Given the description of an element on the screen output the (x, y) to click on. 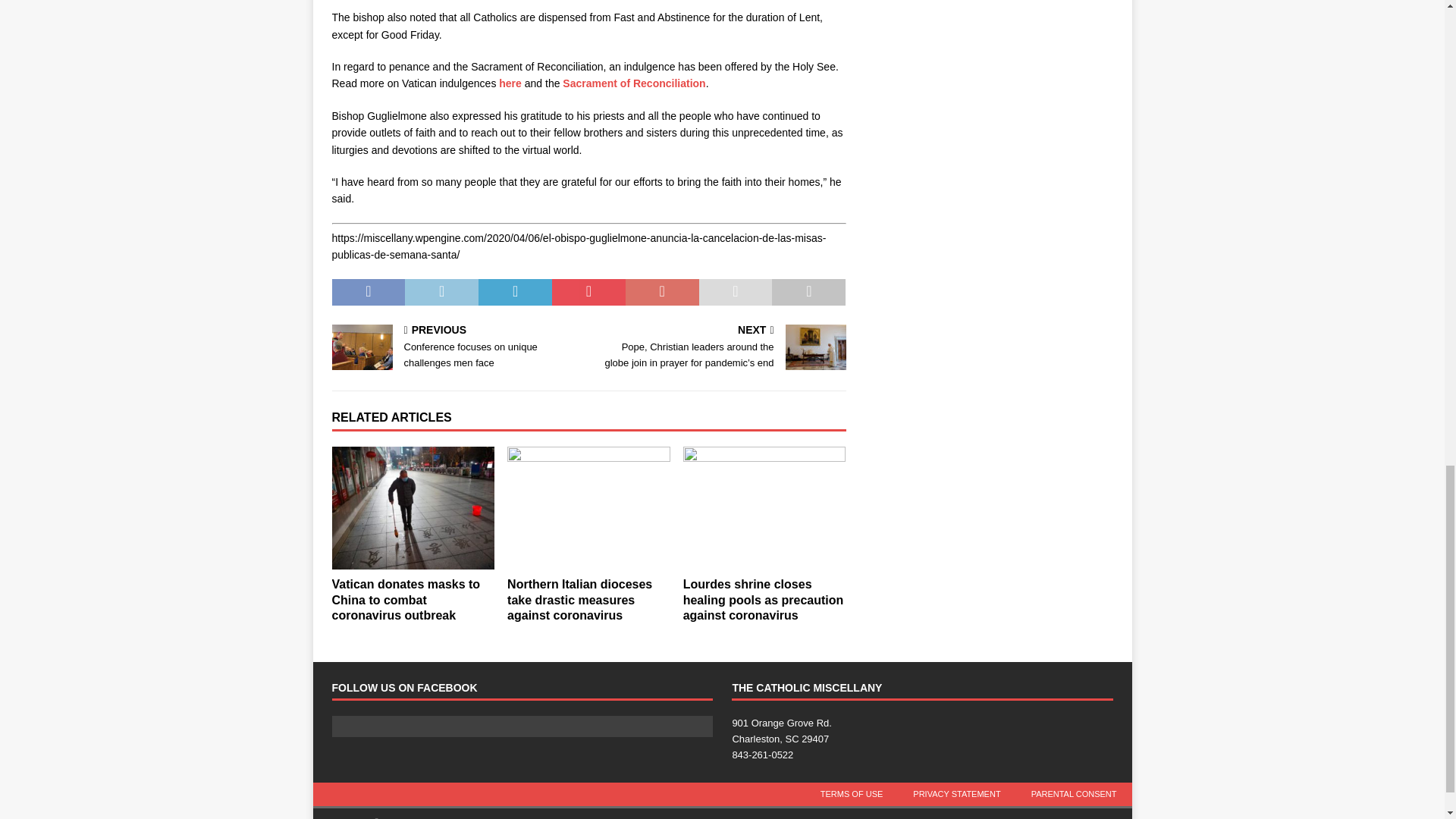
Page 1 (457, 347)
here (588, 185)
Sacrament of Reconciliation (510, 82)
